Given the description of an element on the screen output the (x, y) to click on. 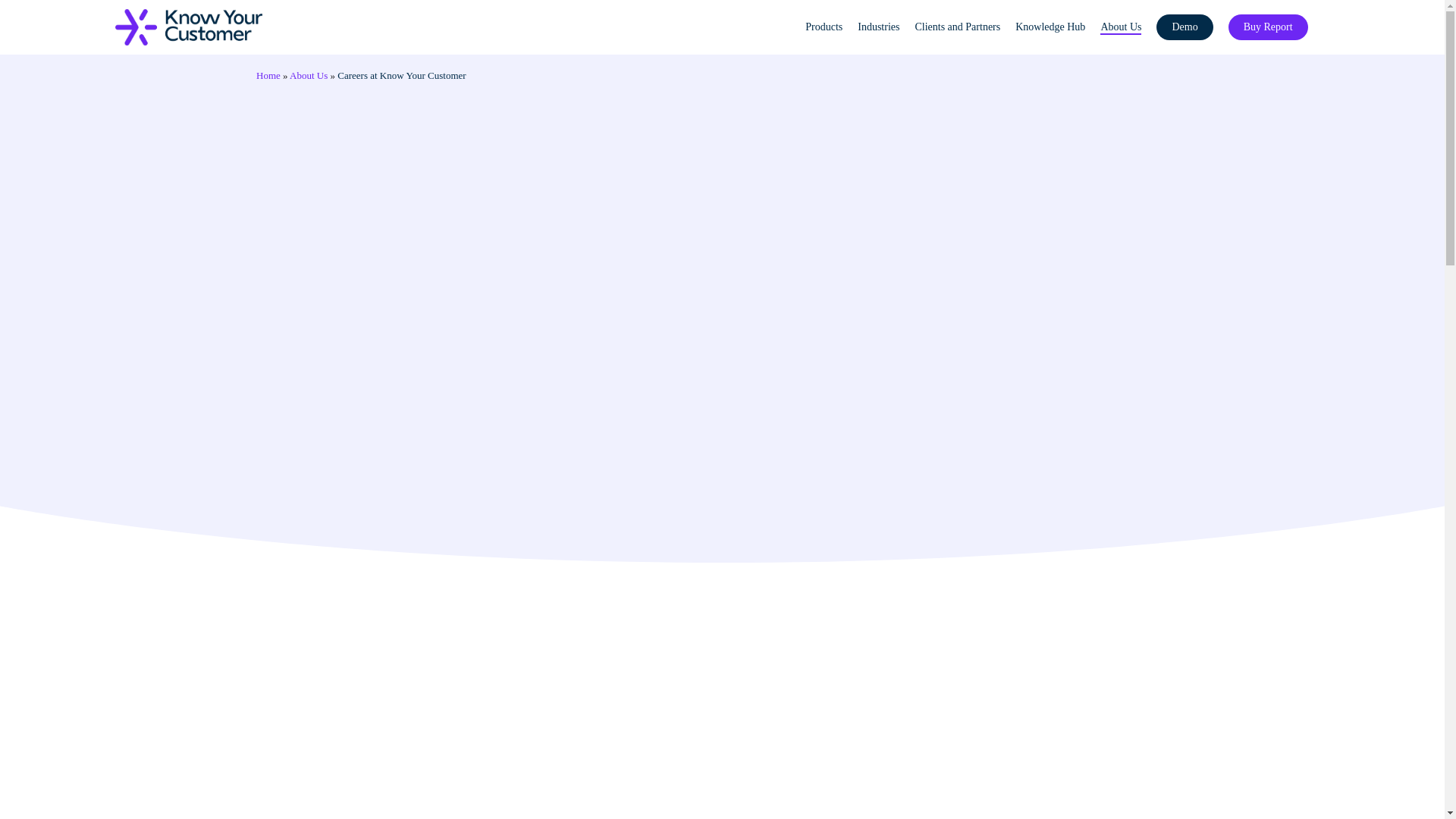
Industries (878, 27)
Clients and Partners (957, 27)
Home (268, 75)
Buy Report (1267, 27)
Products (824, 27)
Demo (1184, 27)
Knowledge Hub (1049, 27)
About Us (1120, 27)
